Given the description of an element on the screen output the (x, y) to click on. 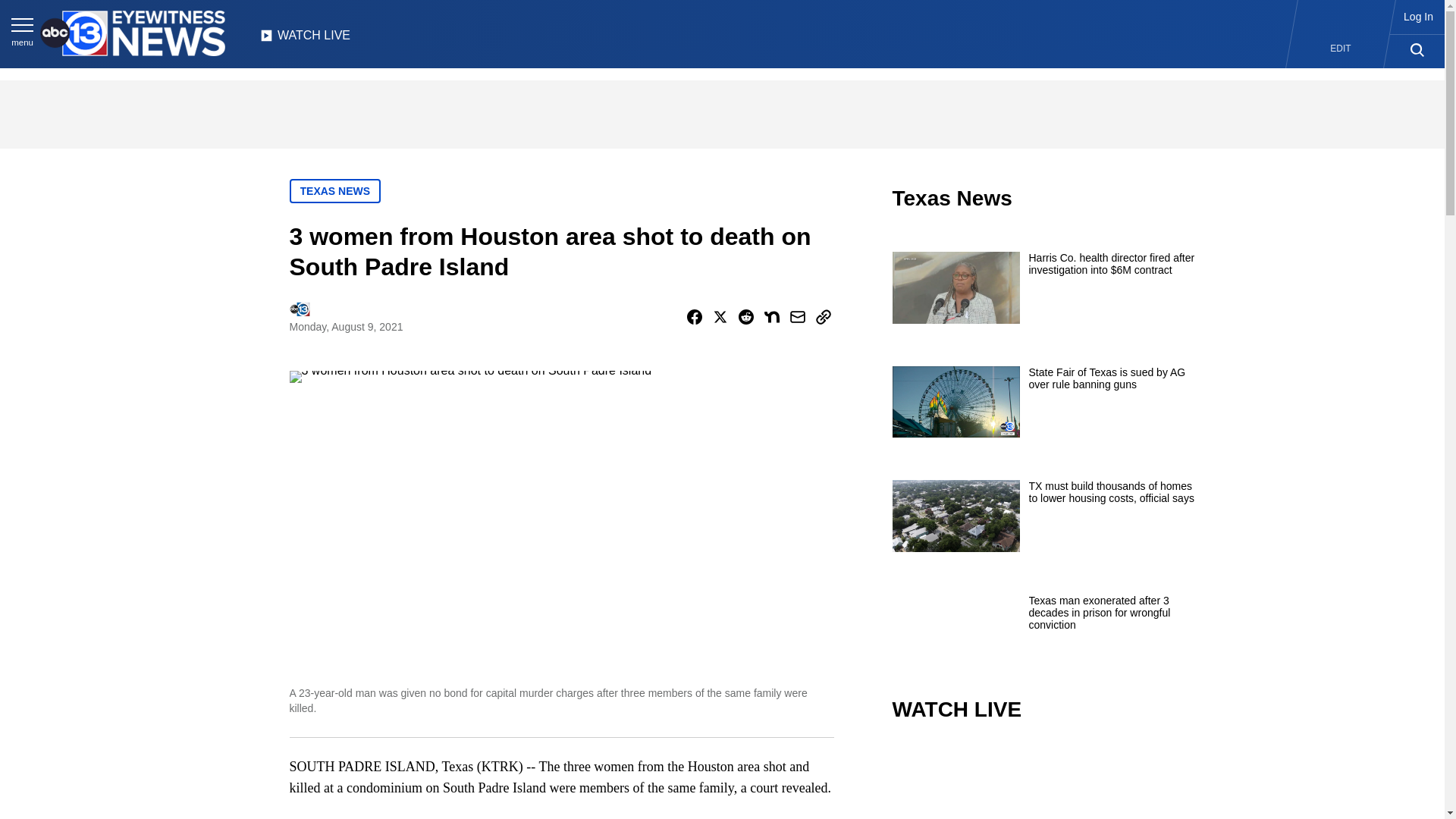
EDIT (1340, 48)
WATCH LIVE (305, 39)
video.title (1043, 781)
